Given the description of an element on the screen output the (x, y) to click on. 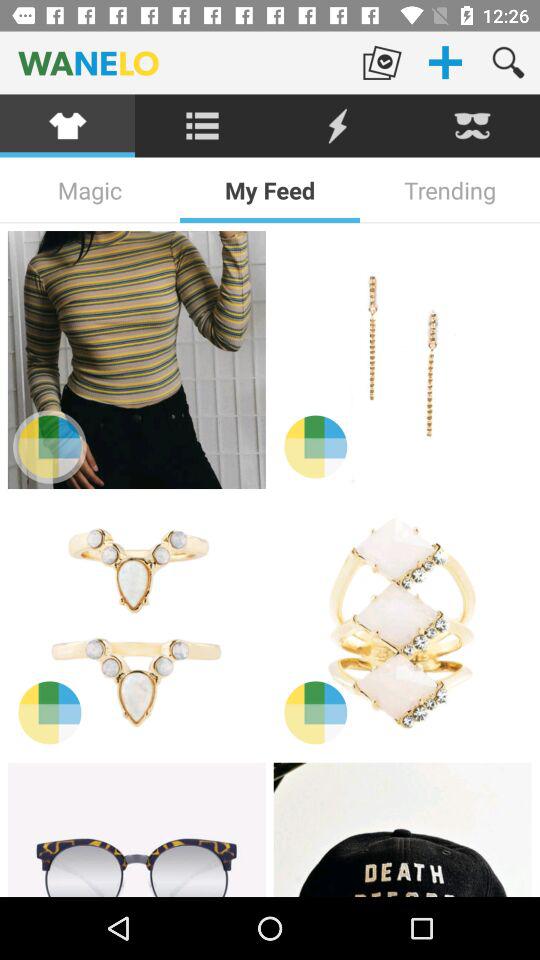
select product (402, 829)
